Given the description of an element on the screen output the (x, y) to click on. 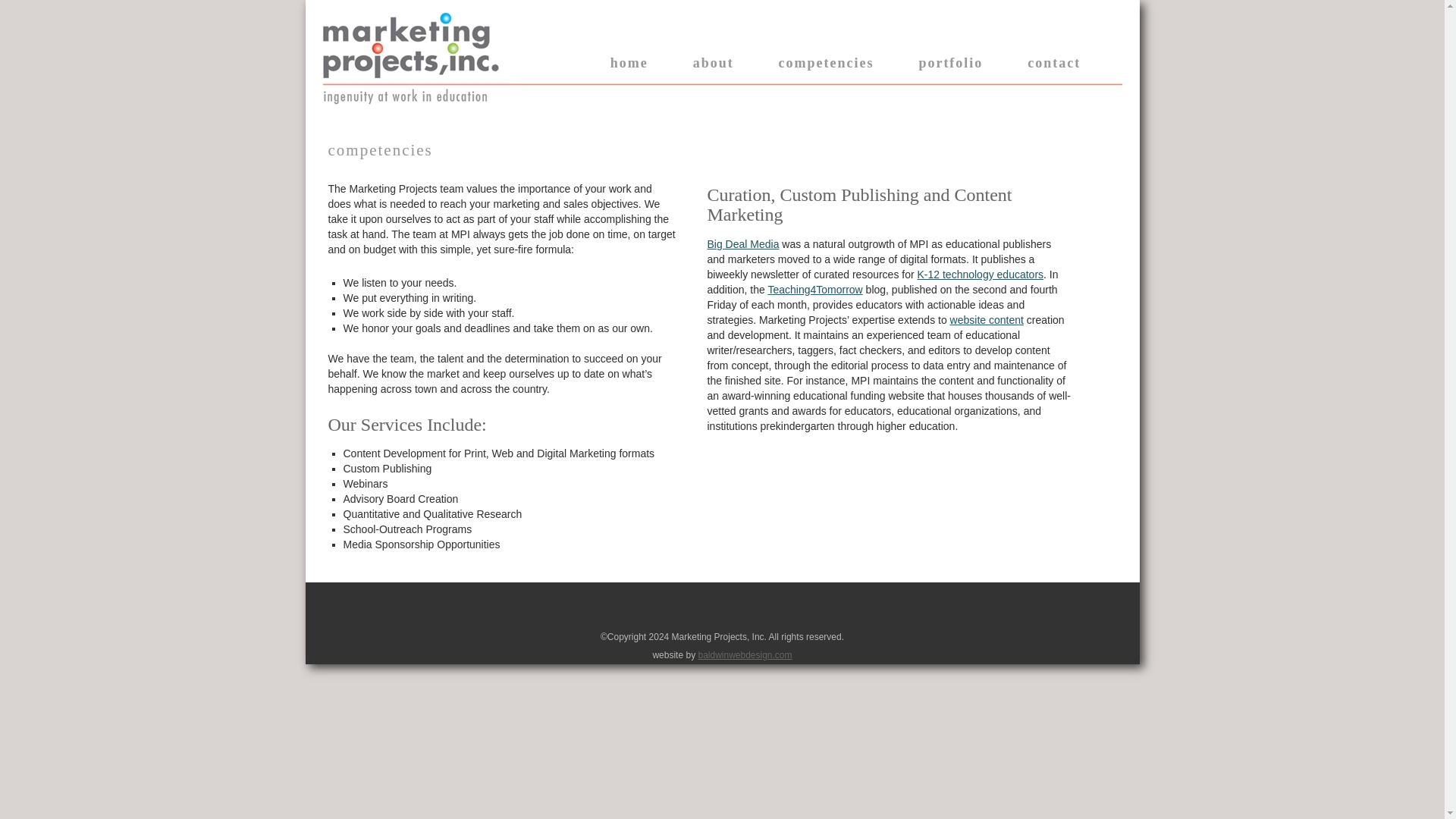
Teaching4Tomorrow (814, 289)
contact (1053, 62)
Big Deal Media (742, 244)
website content (986, 319)
home (628, 62)
competencies (826, 62)
Marketing Projects, Inc. (417, 36)
K-12 technology educators (980, 274)
baldwinwebdesign.com (744, 655)
Marketing Projects, Inc. (417, 36)
portfolio (950, 62)
about (713, 62)
